Given the description of an element on the screen output the (x, y) to click on. 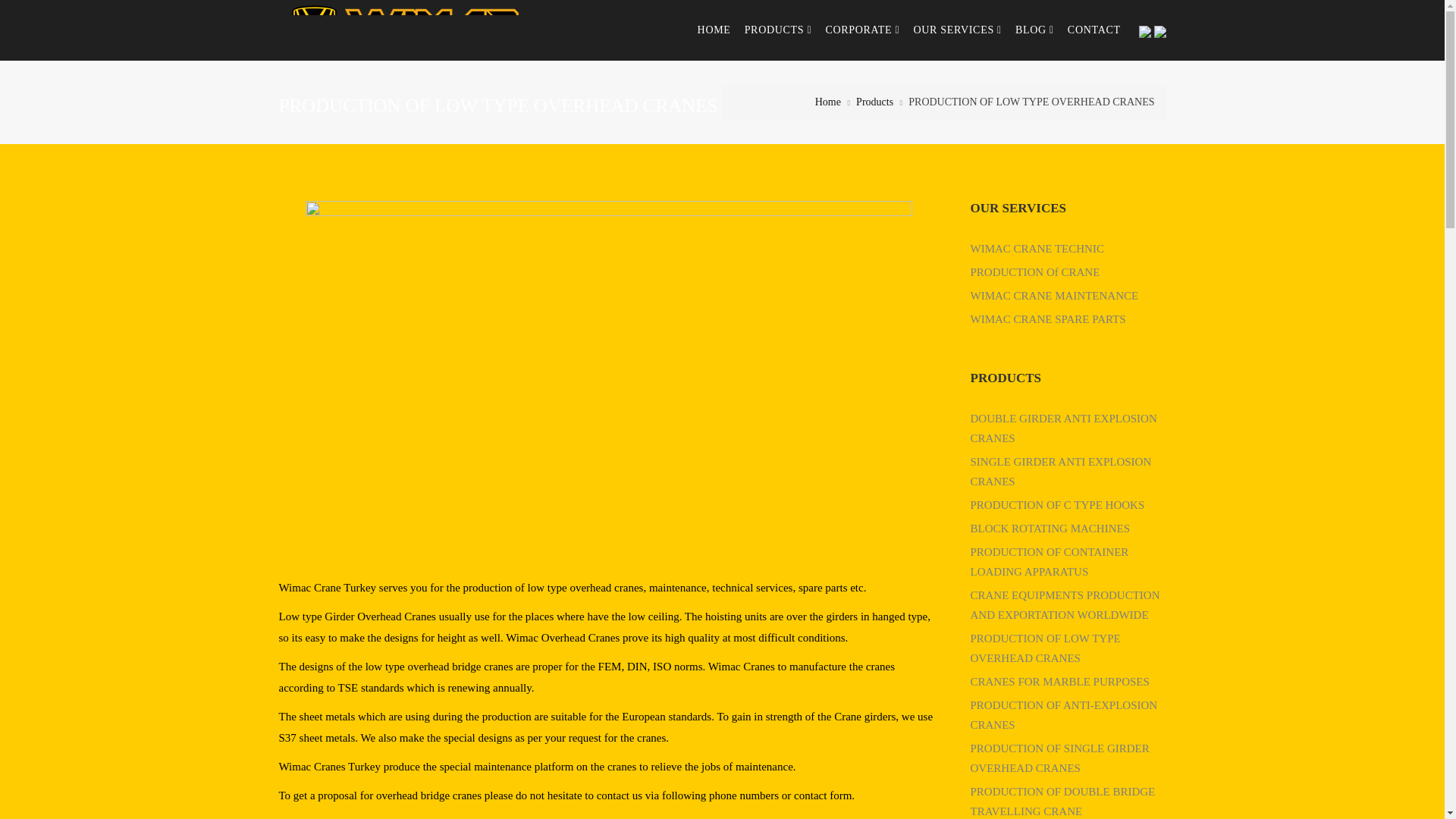
Products (778, 30)
Corporate (861, 30)
Wimac Crane Turkey - We engineer the best to present to You (403, 30)
PRODUCTS (778, 30)
CORPORATE (861, 30)
CONTACT (1093, 30)
OUR SERVICES (957, 30)
